Given the description of an element on the screen output the (x, y) to click on. 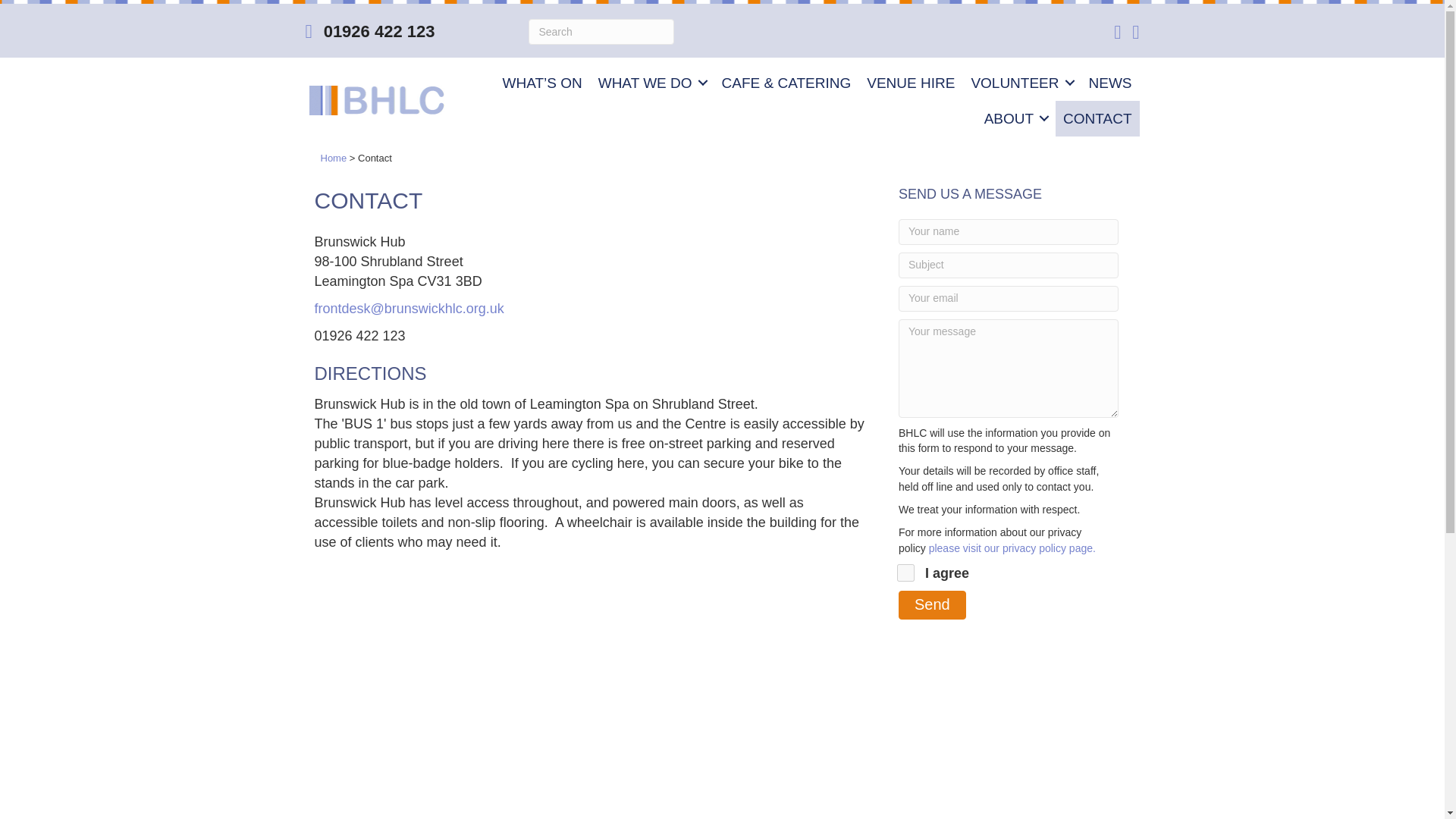
1 (905, 572)
Type and press Enter to search. (601, 31)
ABOUT (1015, 118)
VENUE HIRE (910, 82)
CONTACT (1096, 118)
NEWS (1110, 82)
WHAT WE DO (652, 82)
VOLUNTEER (1021, 82)
Home (333, 157)
